Given the description of an element on the screen output the (x, y) to click on. 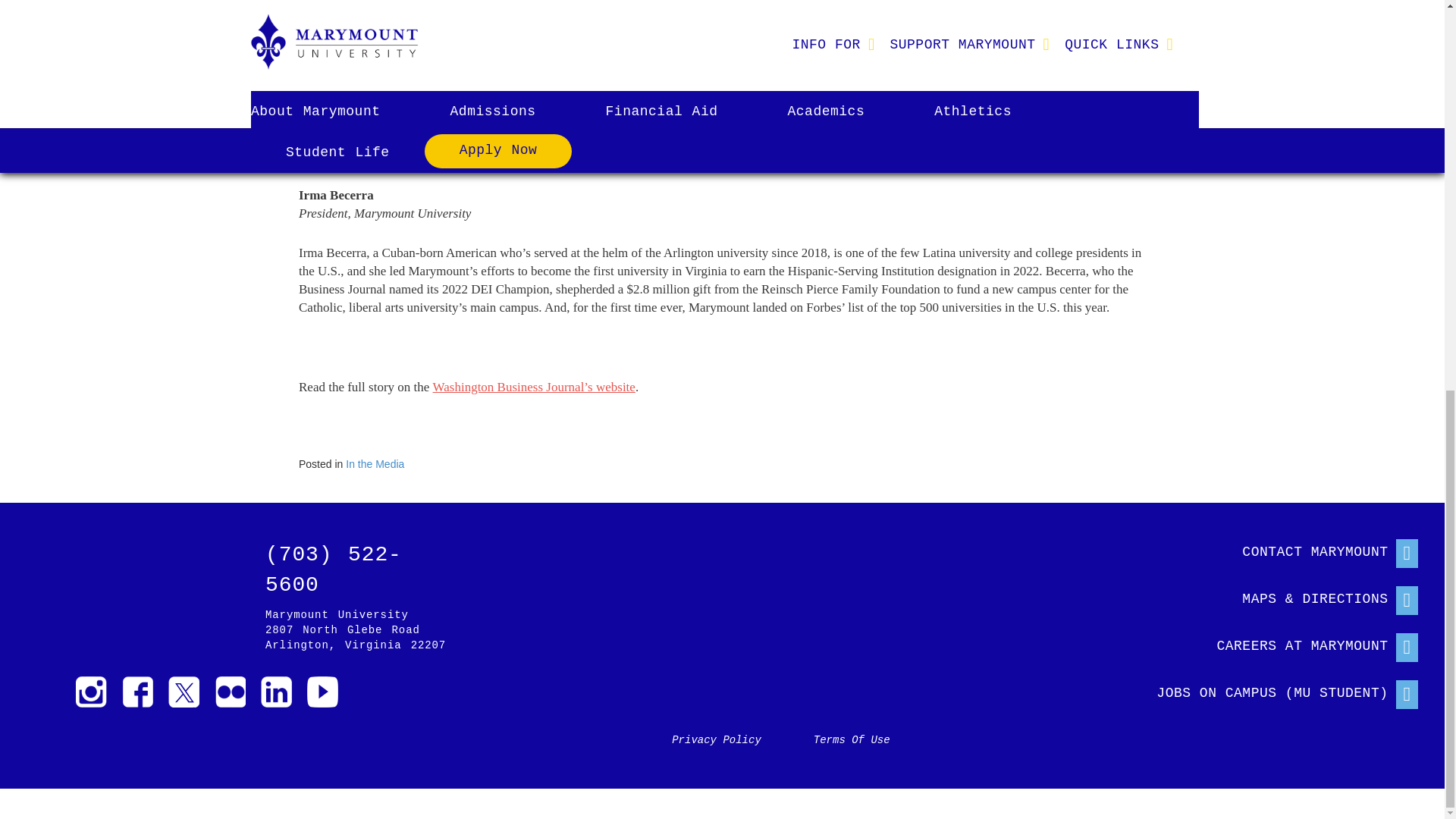
facebook (137, 691)
flickr (230, 691)
Contact Us (1271, 549)
instagram (90, 691)
Careers at MU (1271, 643)
Youtube (322, 691)
twitter (183, 691)
linkedin (276, 691)
